Given the description of an element on the screen output the (x, y) to click on. 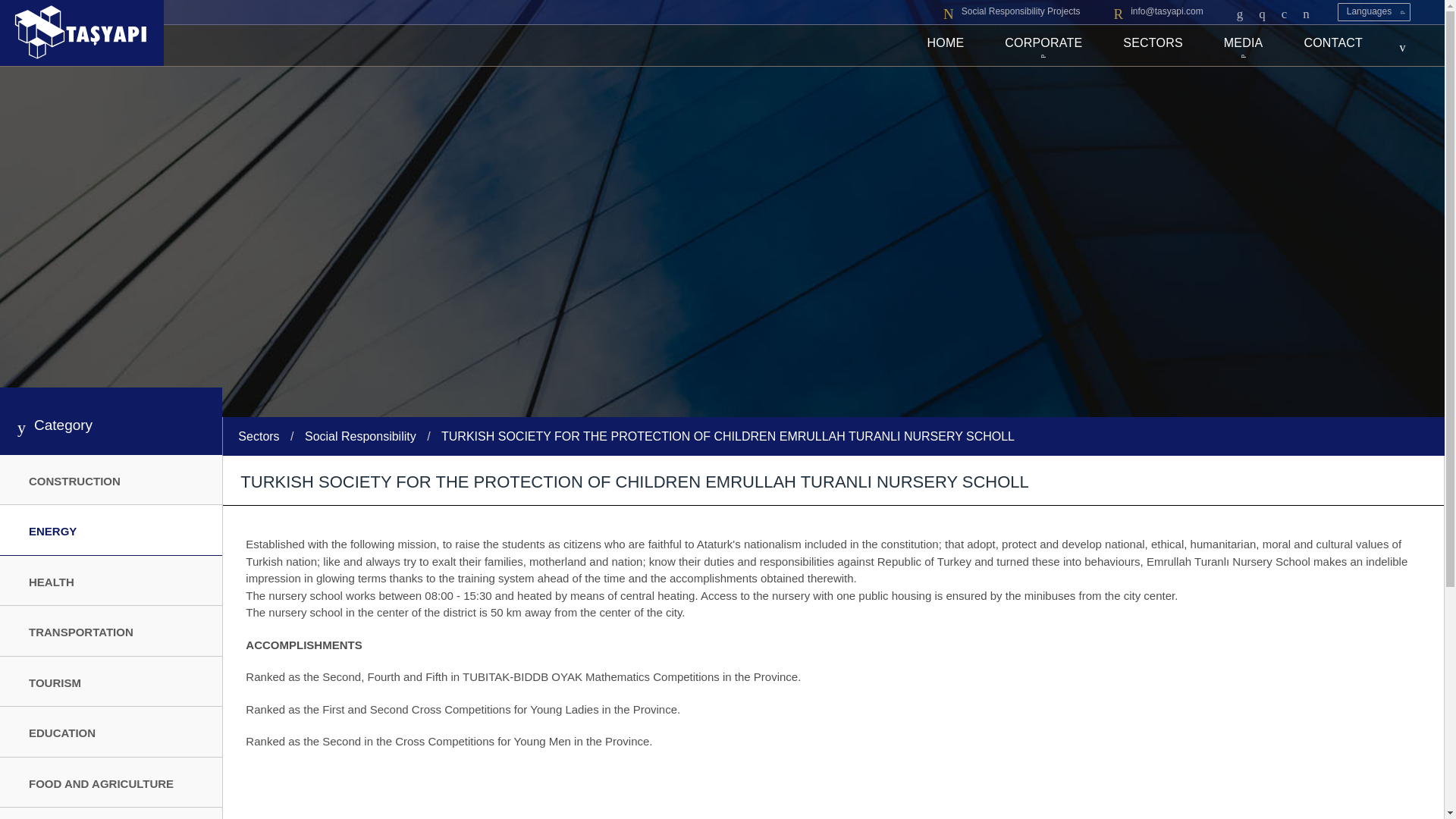
HOME (946, 45)
MEDIA (1244, 45)
SECTORS (1152, 45)
CONTACT (1332, 45)
CONTACT (1332, 45)
CORPORATE (1043, 45)
Languages (1374, 12)
CORPORATE (1043, 45)
HOME (946, 45)
SECTORS (1152, 45)
Social Responsibility Projects (1011, 12)
MEDIA (1244, 45)
